Given the description of an element on the screen output the (x, y) to click on. 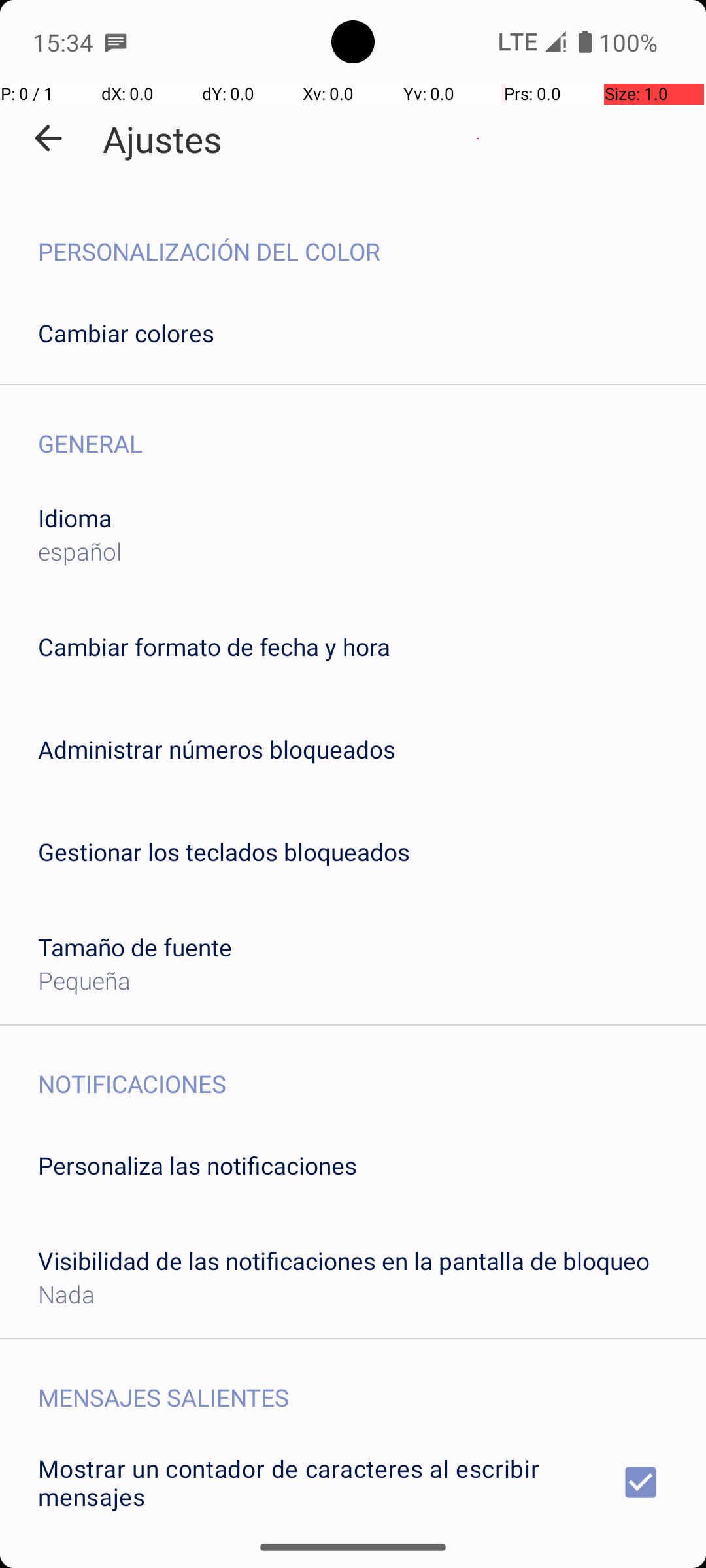
NOTIFICACIONES Element type: android.widget.TextView (371, 1069)
MENSAJES SALIENTES Element type: android.widget.TextView (371, 1383)
Cambiar formato de fecha y hora Element type: android.widget.TextView (213, 646)
Administrar números bloqueados Element type: android.widget.TextView (216, 748)
Gestionar los teclados bloqueados Element type: android.widget.TextView (223, 851)
Tamaño de fuente Element type: android.widget.TextView (134, 946)
Pequeña Element type: android.widget.TextView (83, 979)
Visibilidad de las notificaciones en la pantalla de bloqueo Element type: android.widget.TextView (343, 1260)
Nada Element type: android.widget.TextView (65, 1293)
Mostrar un contador de caracteres al escribir mensajes Element type: android.widget.CheckBox (352, 1482)
Elimina los acentos y signos diacríticos al enviar mensajes Element type: android.widget.CheckBox (352, 1559)
